Given the description of an element on the screen output the (x, y) to click on. 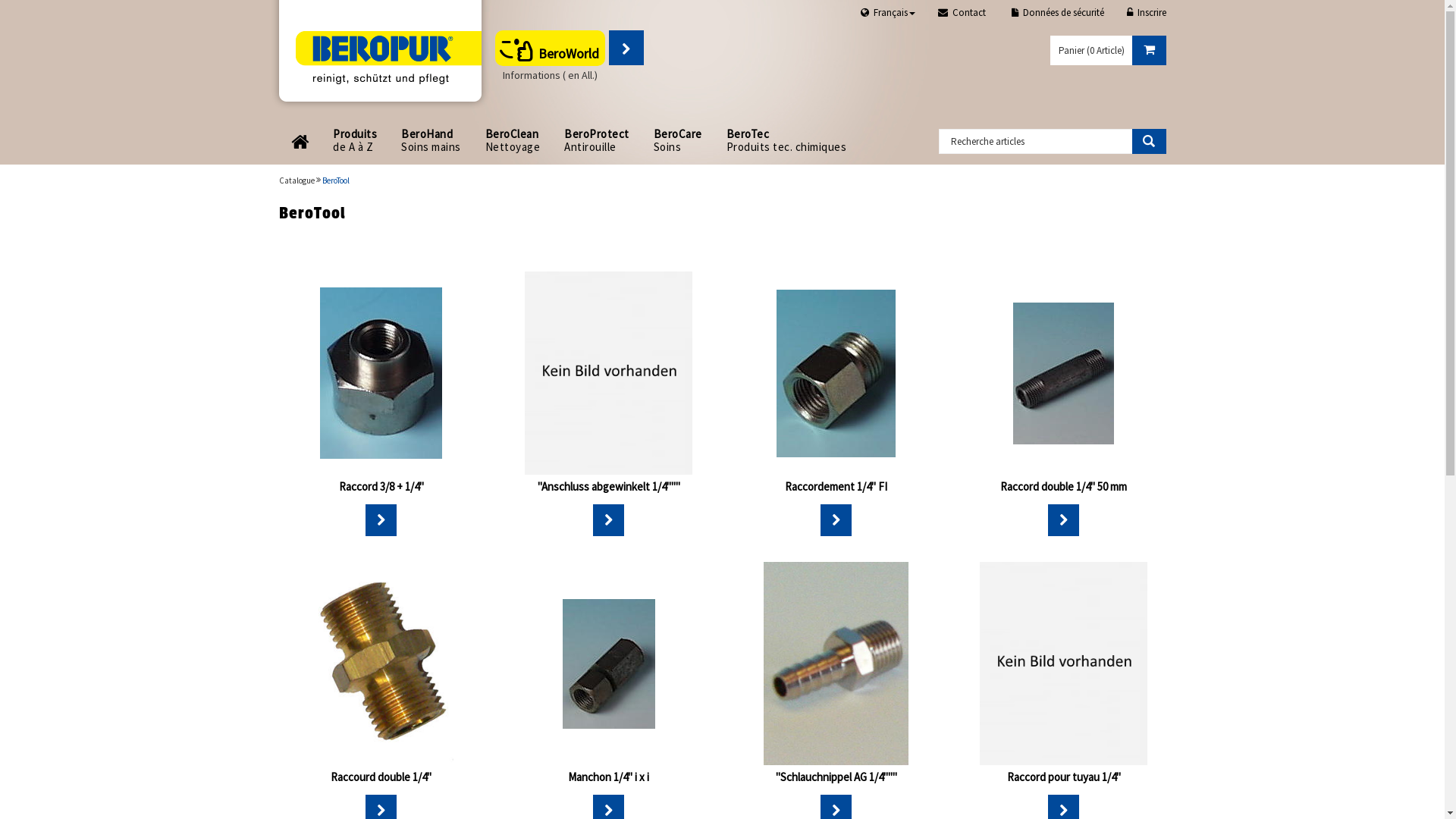
Manchon 1/4" i x i Element type: text (608, 776)
Raccourd double 1/4" Element type: text (380, 776)
"Anschluss abgewinkelt 1/4""" Element type: text (607, 486)
BeroTool Element type: text (334, 180)
"Schlauchnippel AG 1/4""" Element type: text (835, 776)
BeroTec
Produits tec. chimiques Element type: text (786, 141)
Raccord pour tuyau 1/4" Element type: text (1063, 776)
BeroClean
Nettoyage Element type: text (512, 141)
Raccordement 1/4" FI Element type: text (835, 486)
BeroCare
Soins Element type: text (677, 141)
BeroProtect
Antirouille Element type: text (596, 141)
Raccord double 1/4" 50 mm Element type: text (1063, 486)
Raccord 3/8 + 1/4" Element type: text (380, 486)
Panier (0 Article) Element type: text (1107, 50)
Inscrire Element type: text (1146, 13)
Contact Element type: text (966, 13)
BeroHand
Soins mains Element type: text (431, 141)
